Given the description of an element on the screen output the (x, y) to click on. 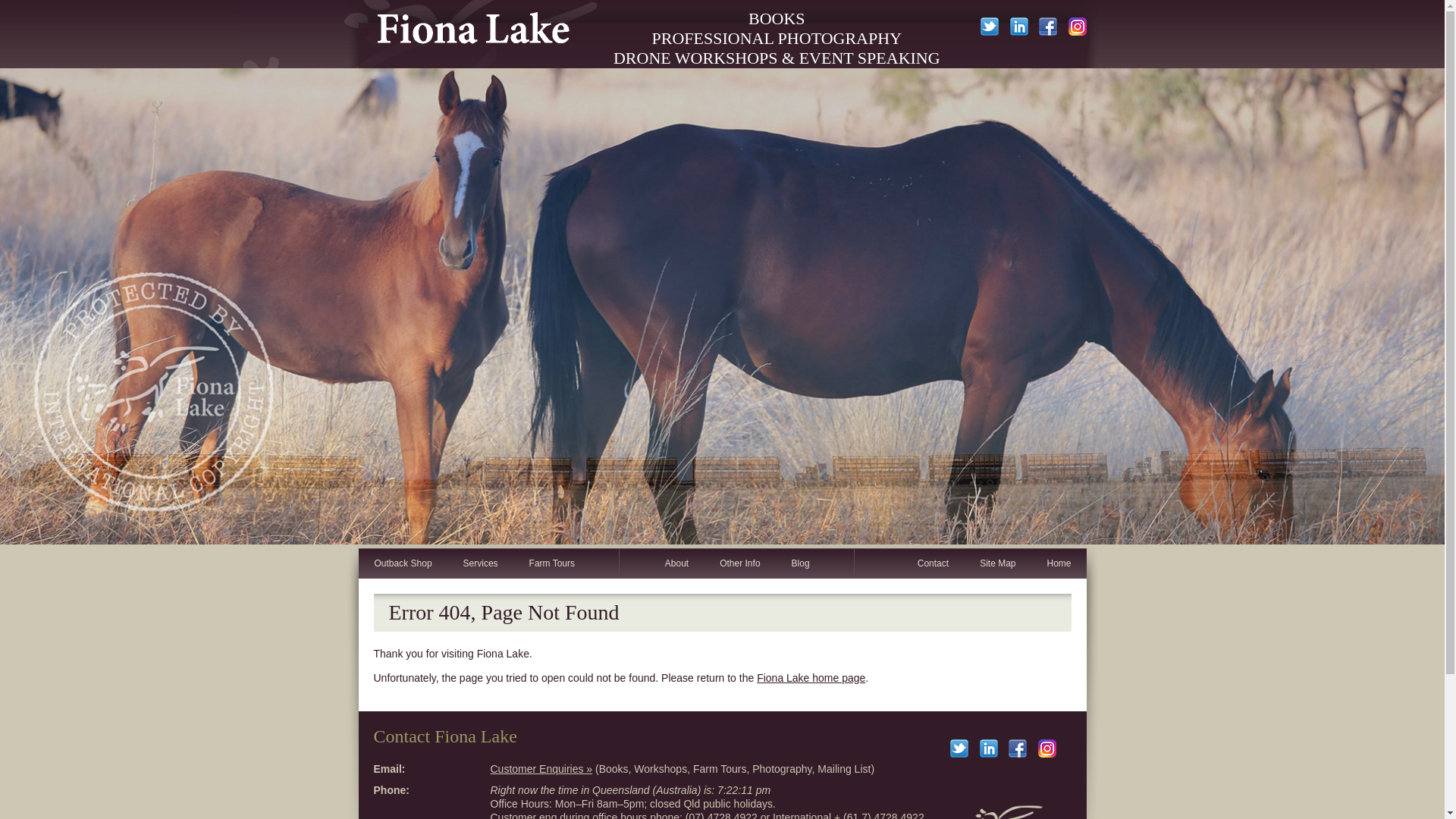
Contact Element type: text (932, 563)
Fiona Lake home page Element type: text (810, 677)
Services Element type: text (480, 563)
Farm Tours Element type: text (551, 563)
About Element type: text (676, 563)
Blog Element type: text (800, 563)
Outback Shop Element type: text (401, 563)
Other Info Element type: text (739, 563)
Home Element type: text (1057, 563)
Site Map Element type: text (996, 563)
